Given the description of an element on the screen output the (x, y) to click on. 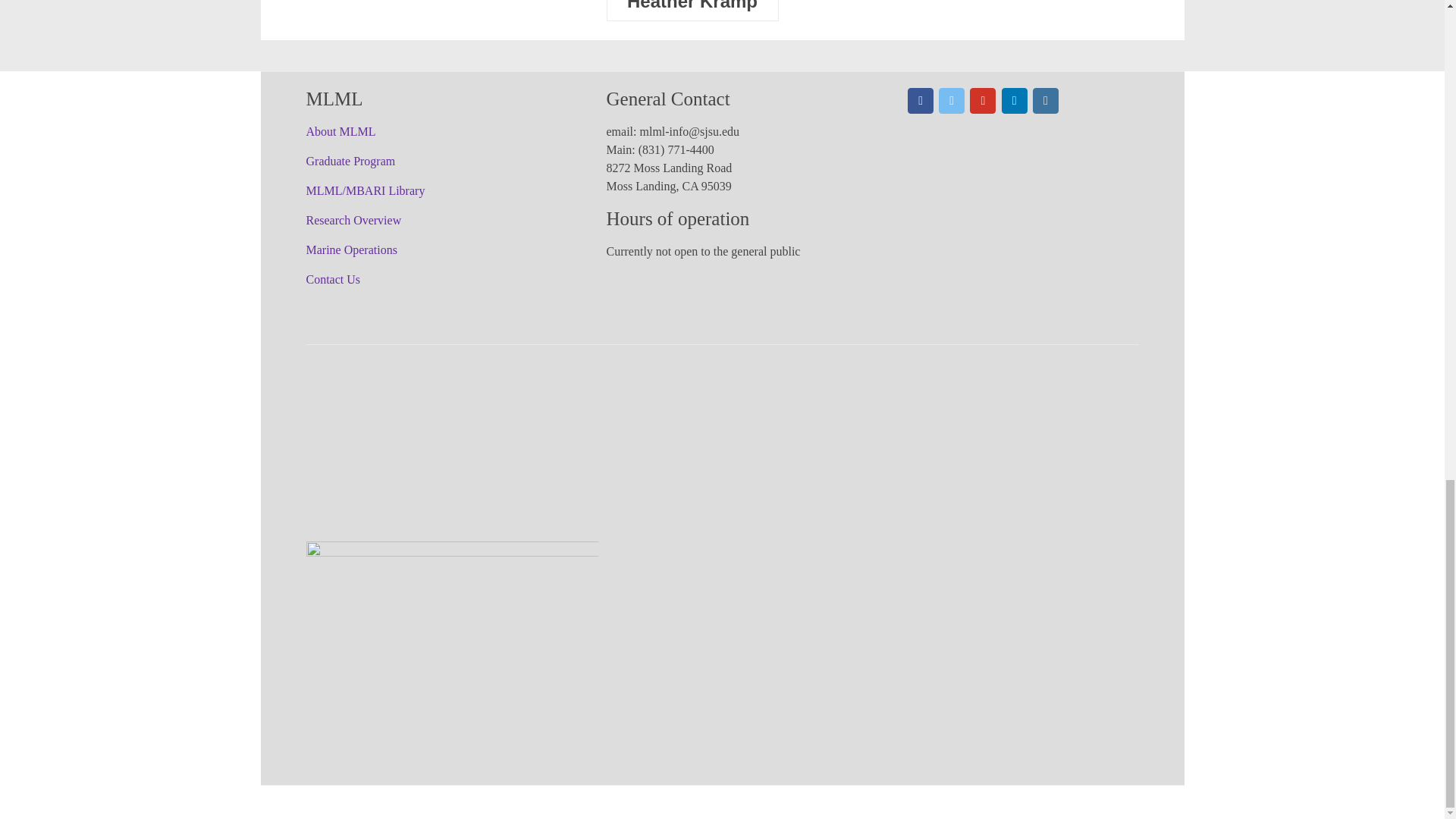
Moss Landing Marine Laboratories on Facebook (920, 100)
Moss Landing Marine Laboratories on Instagram (1045, 100)
Graduate Program (350, 160)
Marine Operations (351, 249)
About MLML (340, 131)
Moss Landing Marine Laboratories on Youtube (982, 100)
Research Overview (353, 219)
Moss Landing Marine Laboratories on Linkedin (1014, 100)
San Jose State University: MLML's Administrative Campus (451, 569)
Moss Landing Marine Laboratories on X Twitter (951, 100)
